Given the description of an element on the screen output the (x, y) to click on. 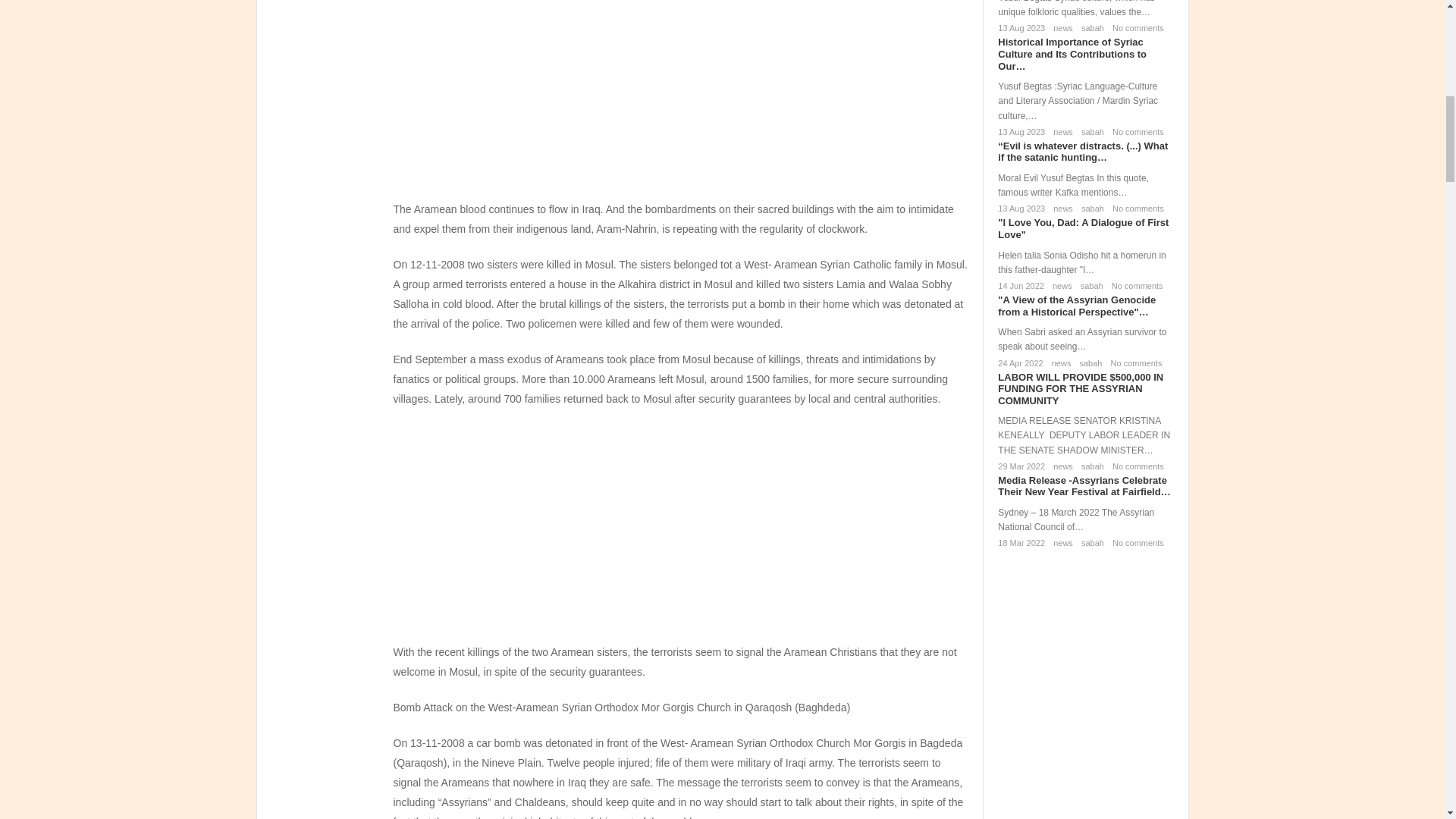
Advertisement (680, 531)
Advertisement (680, 97)
